Given the description of an element on the screen output the (x, y) to click on. 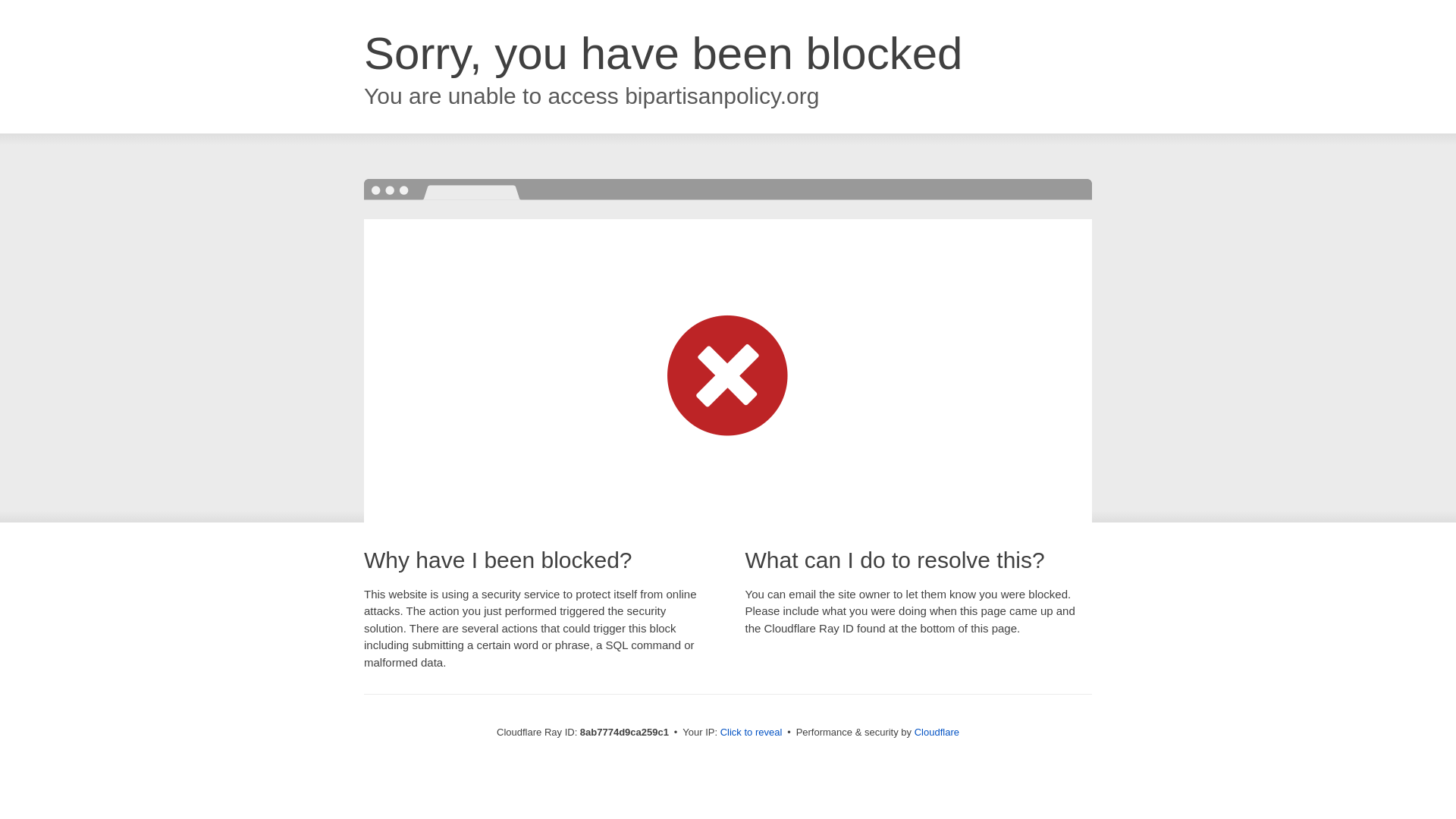
Cloudflare (936, 731)
Click to reveal (751, 732)
